Given the description of an element on the screen output the (x, y) to click on. 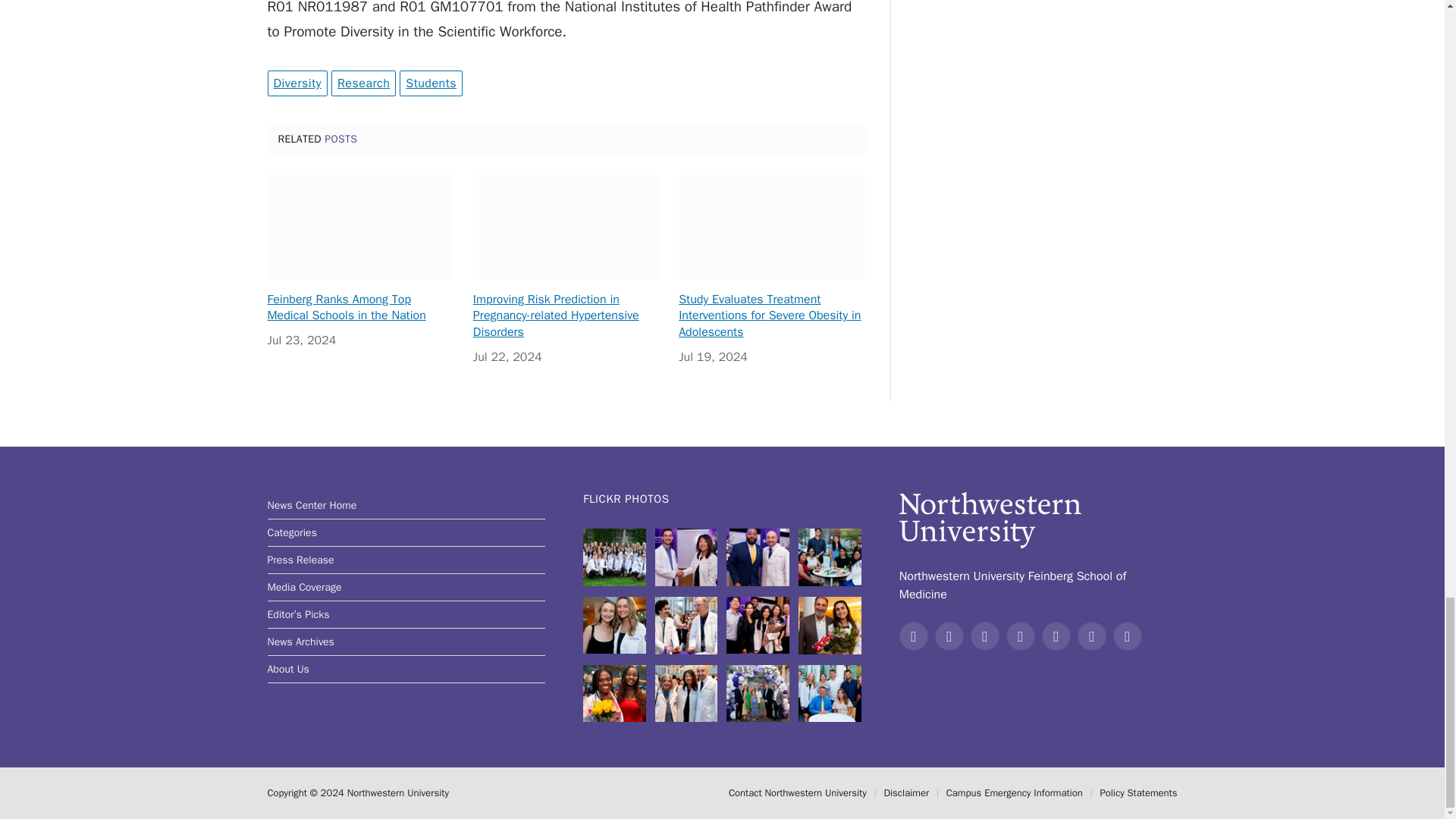
Feinberg Ranks Among Top Medical Schools in the Nation (359, 227)
